Given the description of an element on the screen output the (x, y) to click on. 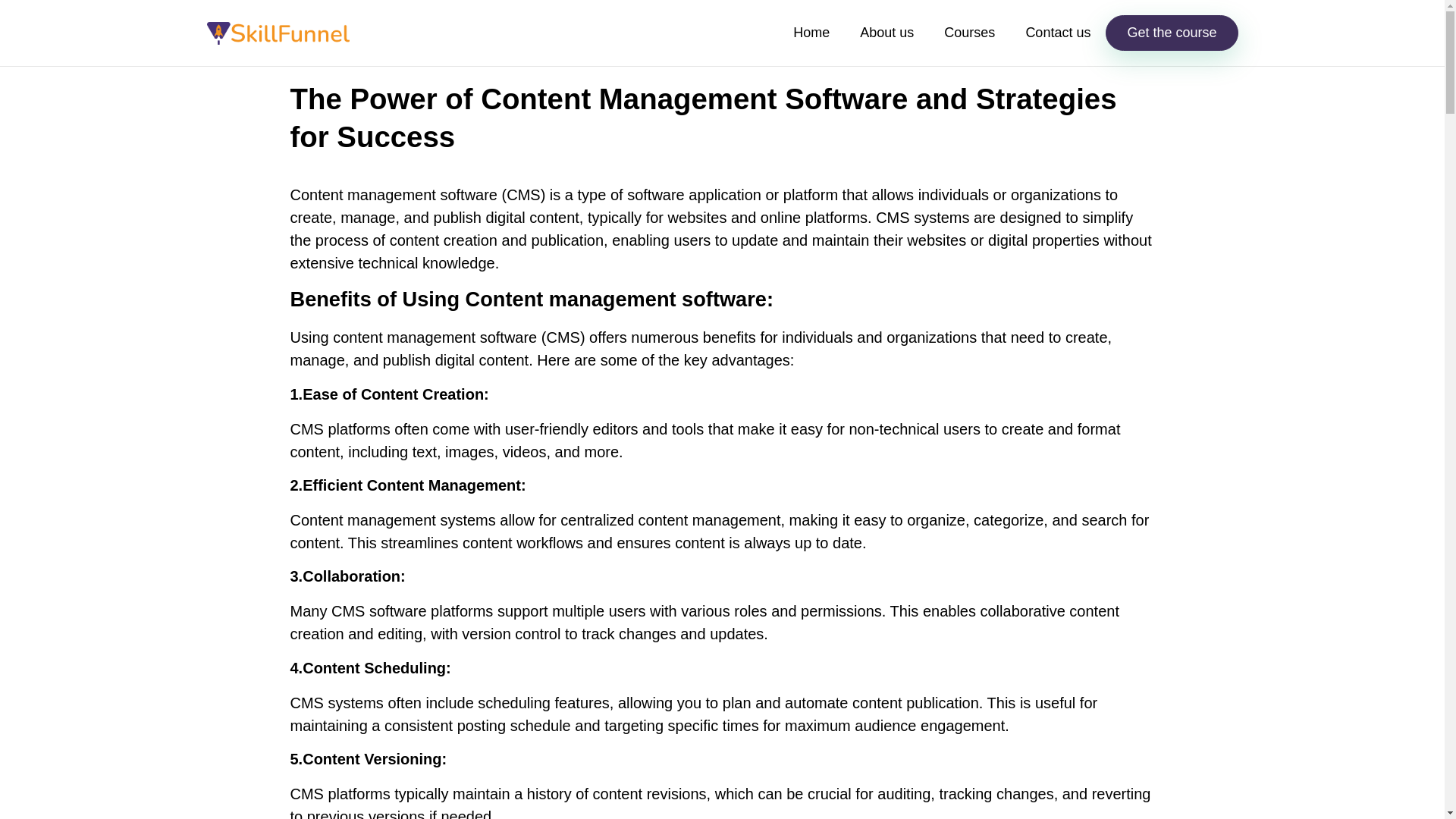
Get the course (1171, 32)
Home (811, 32)
Courses (968, 32)
Contact us (1057, 32)
About us (887, 32)
